Given the description of an element on the screen output the (x, y) to click on. 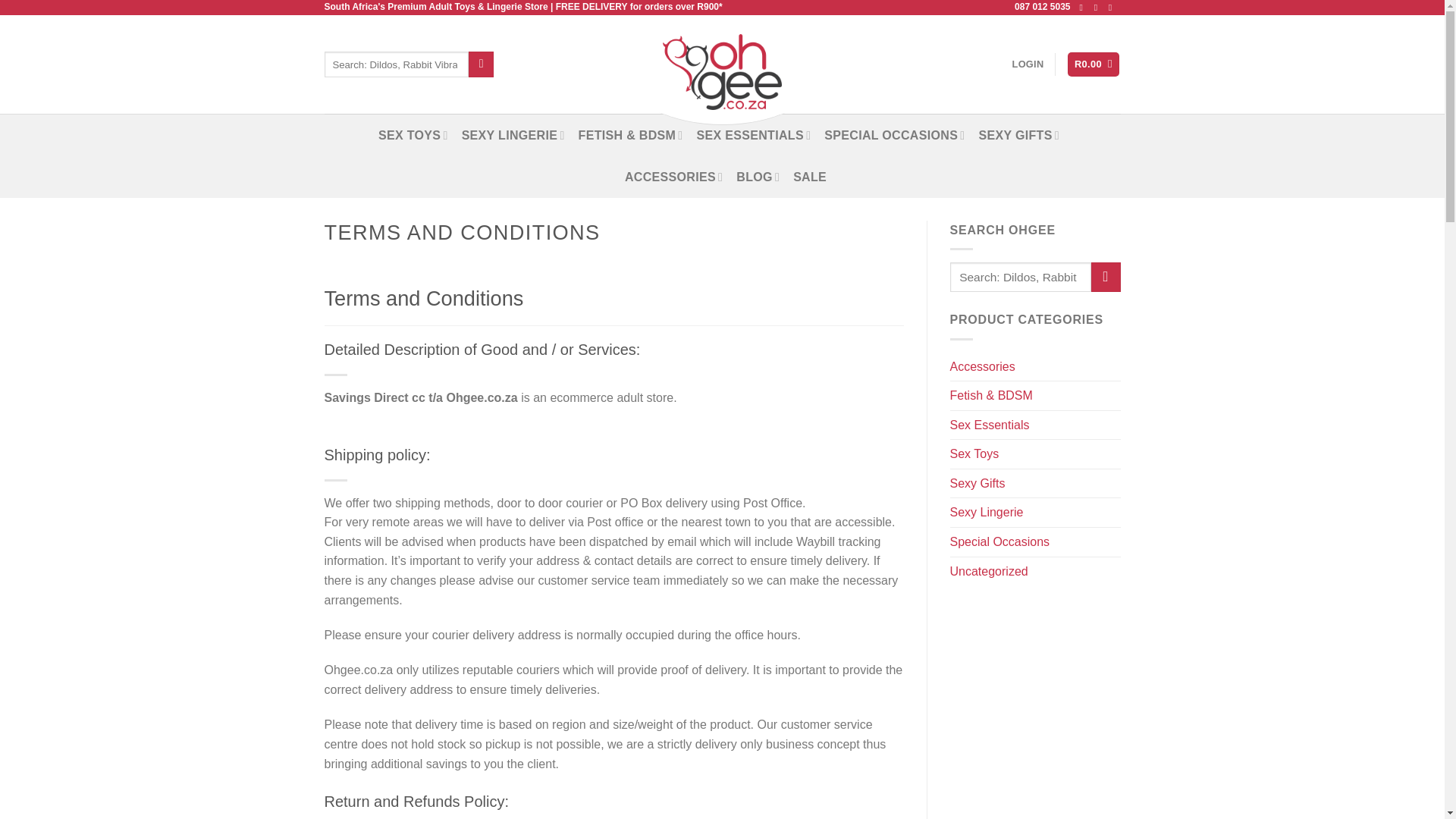
Search (480, 63)
SEXY LINGERIE (512, 135)
Basket (1093, 64)
SEX TOYS (413, 135)
R0.00 (1093, 64)
